Given the description of an element on the screen output the (x, y) to click on. 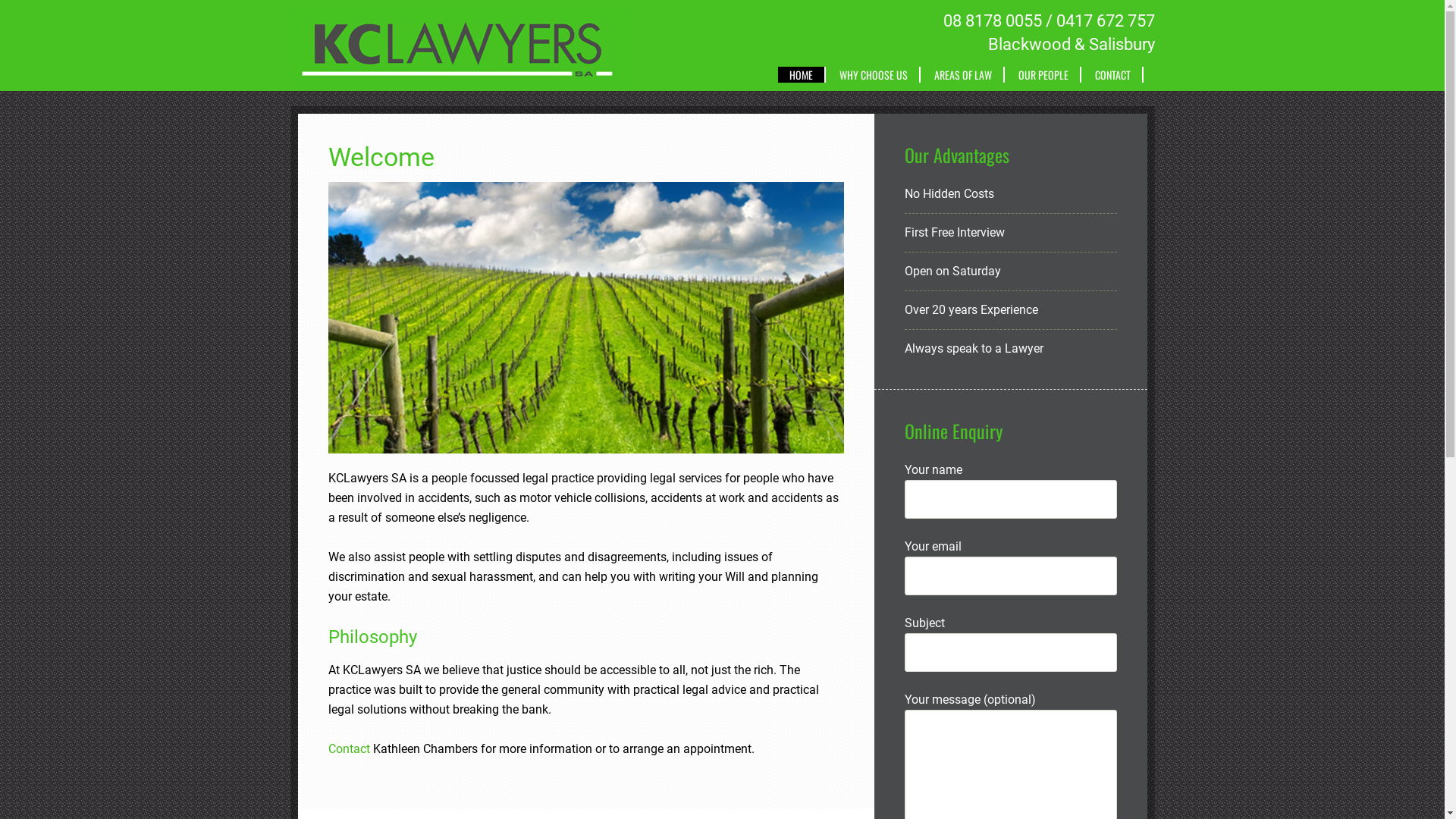
AREAS OF LAW Element type: text (963, 74)
CONTACT Element type: text (1112, 74)
WHY CHOOSE US Element type: text (874, 74)
HOME Element type: text (801, 74)
KC Lawyers Element type: hover (459, 68)
OUR PEOPLE Element type: text (1044, 74)
Contact Element type: text (348, 748)
08 8178 0055 Element type: text (992, 20)
0417 672 757 Element type: text (1104, 20)
